Given the description of an element on the screen output the (x, y) to click on. 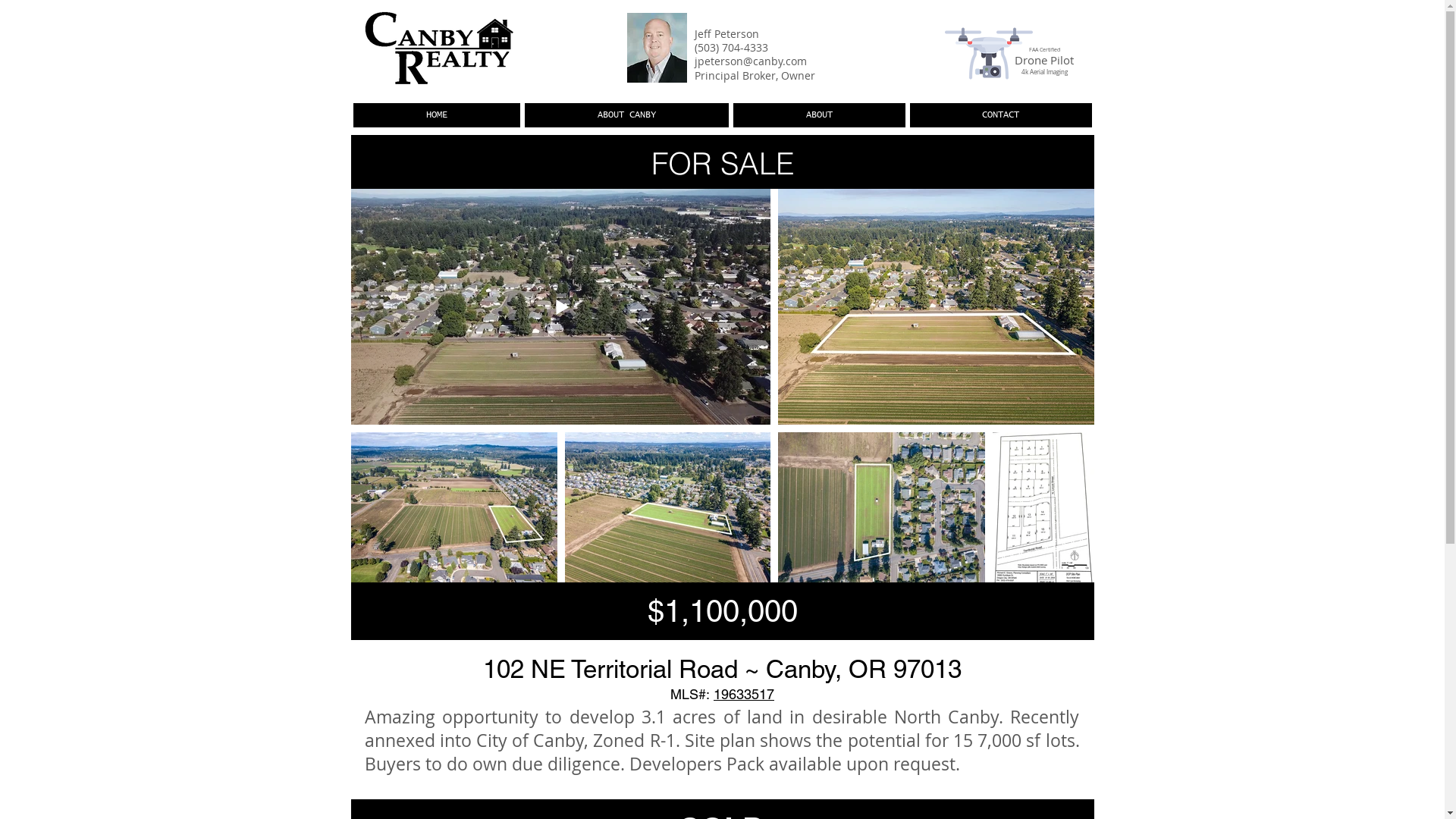
CONTACT Element type: text (1001, 115)
jpeterson@canby.com Element type: text (750, 60)
19633517 Element type: text (743, 694)
ABOUT Element type: text (818, 115)
ABOUT CANBY Element type: text (626, 115)
HOME Element type: text (436, 115)
